Given the description of an element on the screen output the (x, y) to click on. 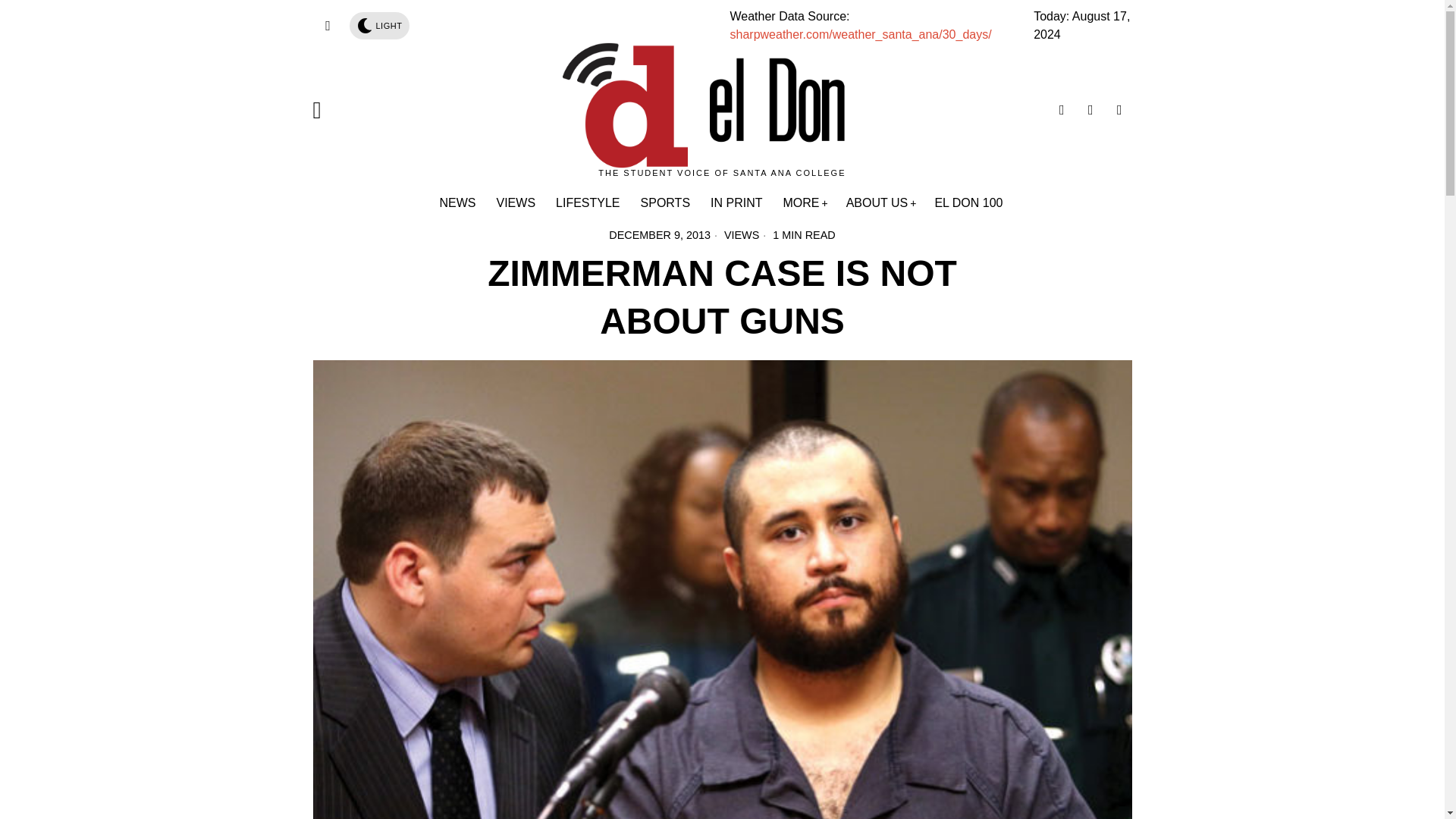
SPORTS (666, 203)
MORE (804, 203)
ABOUT US (881, 203)
NEWS (458, 203)
VIEWS (516, 203)
09 Dec, 2013 01:46:17 (659, 234)
IN PRINT (737, 203)
LIFESTYLE (588, 203)
EL DON 100 (968, 203)
VIEWS (740, 234)
